Given the description of an element on the screen output the (x, y) to click on. 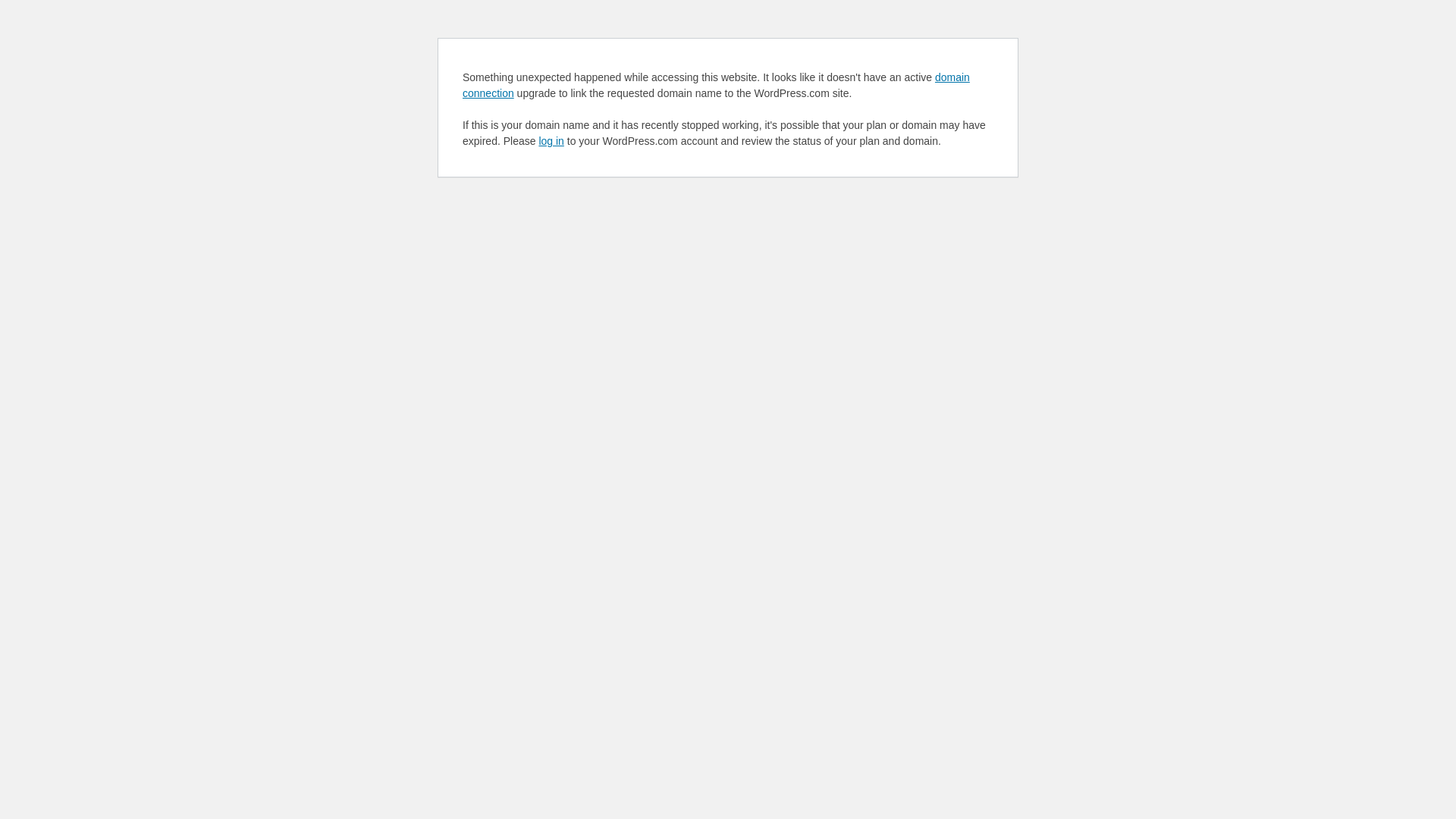
log in Element type: text (550, 140)
domain connection Element type: text (715, 85)
